Given the description of an element on the screen output the (x, y) to click on. 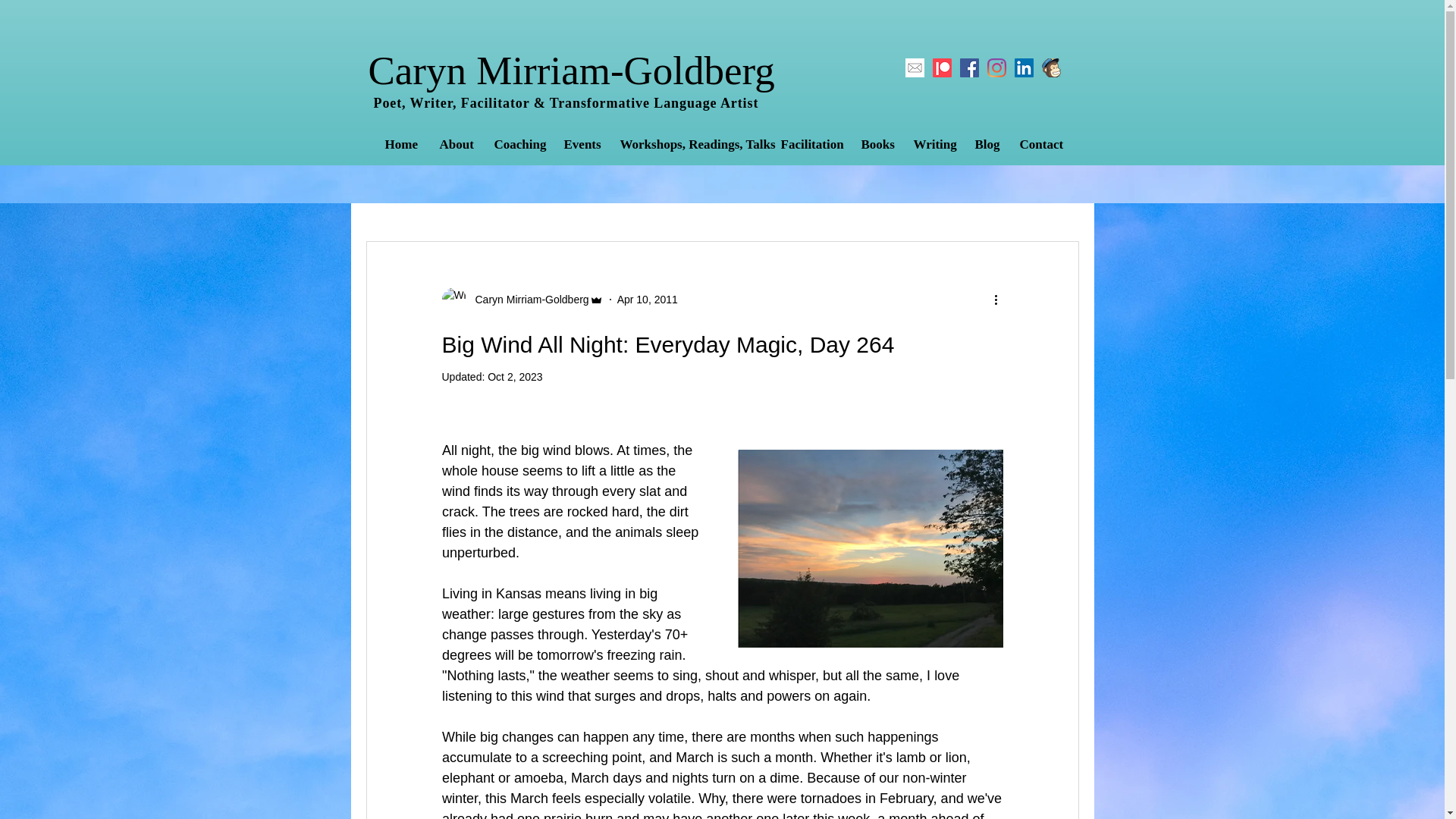
Animal (464, 194)
arts (670, 194)
Apr 10, 2011 (647, 298)
Caryn Mirriam-Goldberg (571, 70)
Events (579, 144)
Coaching (516, 144)
Activism (536, 194)
Contact (1040, 144)
Blog (984, 144)
Workshops, Readings, Talks (688, 144)
Caryn Mirriam-Goldberg (526, 299)
Facilitation (808, 144)
Oct 2, 2023 (514, 377)
Writing (932, 144)
About (454, 144)
